Given the description of an element on the screen output the (x, y) to click on. 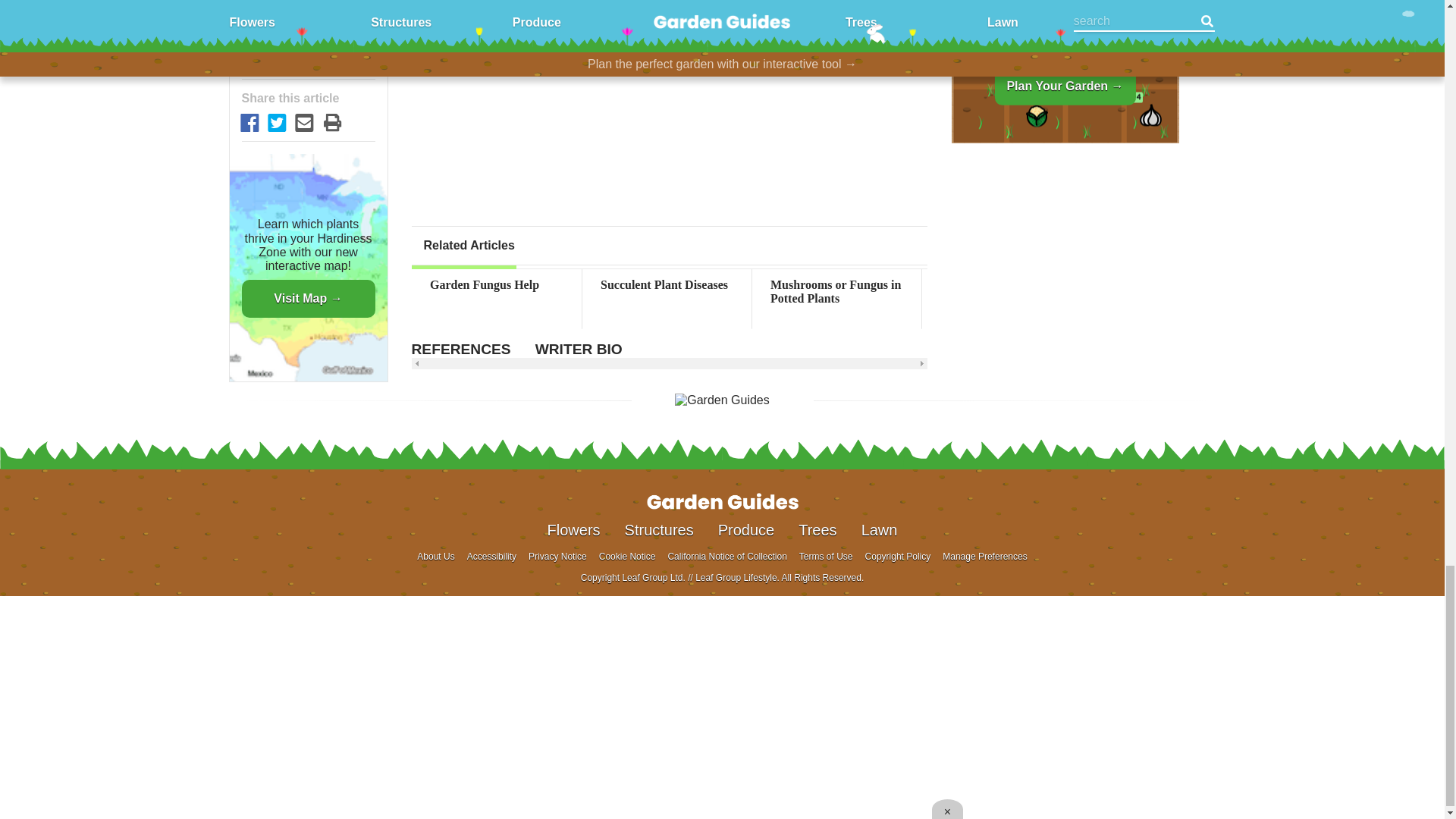
Kalanchoe Diseases (1176, 285)
Diseases of Jade Plants (1005, 285)
Garden Fungus Help (495, 285)
Succulent Plant Diseases (666, 285)
Anthurium Diseases (1346, 285)
Mushrooms or Fungus in Potted Plants (836, 292)
